Given the description of an element on the screen output the (x, y) to click on. 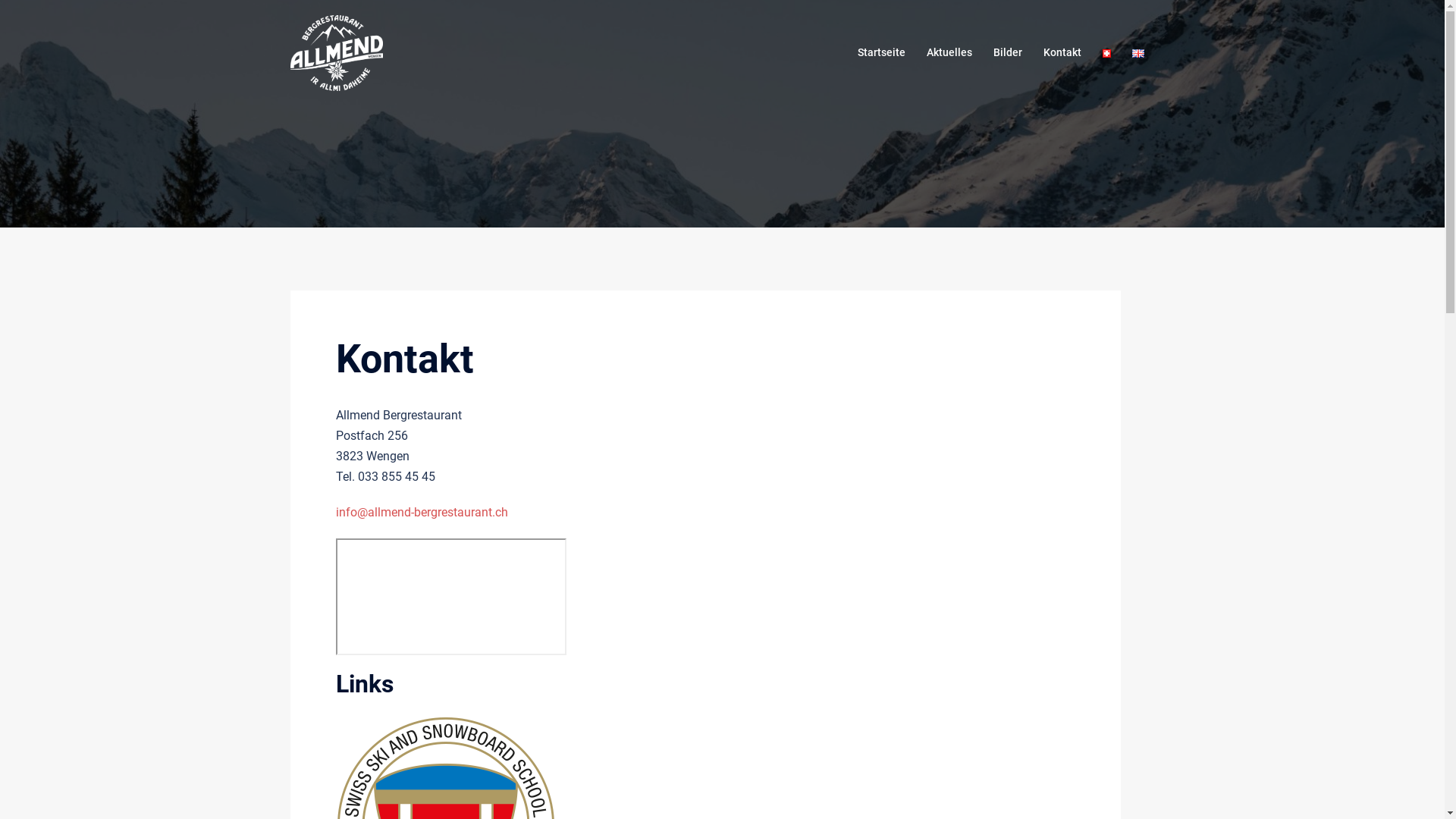
info@allmend-bergrestaurant.ch Element type: text (421, 512)
restaurant allmend wengen Element type: hover (450, 596)
Bilder Element type: text (1007, 52)
Allmend Bergrestaurant Element type: hover (335, 51)
Aktuelles Element type: text (949, 52)
Kontakt Element type: text (1062, 52)
Startseite Element type: text (880, 52)
